Given the description of an element on the screen output the (x, y) to click on. 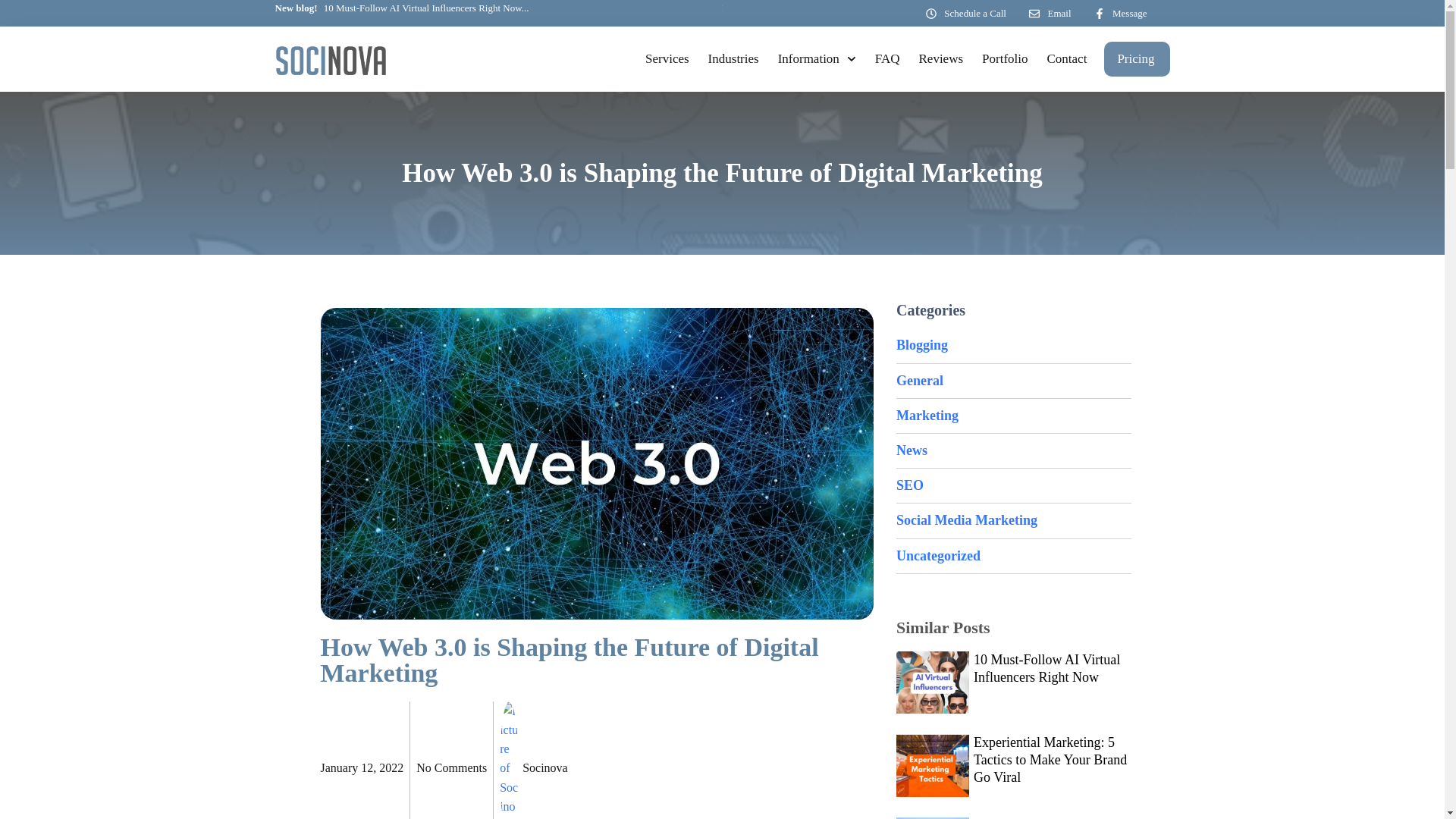
Pricing (1135, 58)
January 12, 2022 (361, 767)
Contact (1066, 58)
Industries (733, 58)
Portfolio (1004, 58)
Services (667, 58)
FAQ (887, 58)
Information (816, 58)
Reviews (941, 58)
Message (1120, 13)
Schedule a Call (966, 13)
10 Must-Follow AI Virtual Influencers Right Now... (401, 8)
Email (1050, 13)
